Given the description of an element on the screen output the (x, y) to click on. 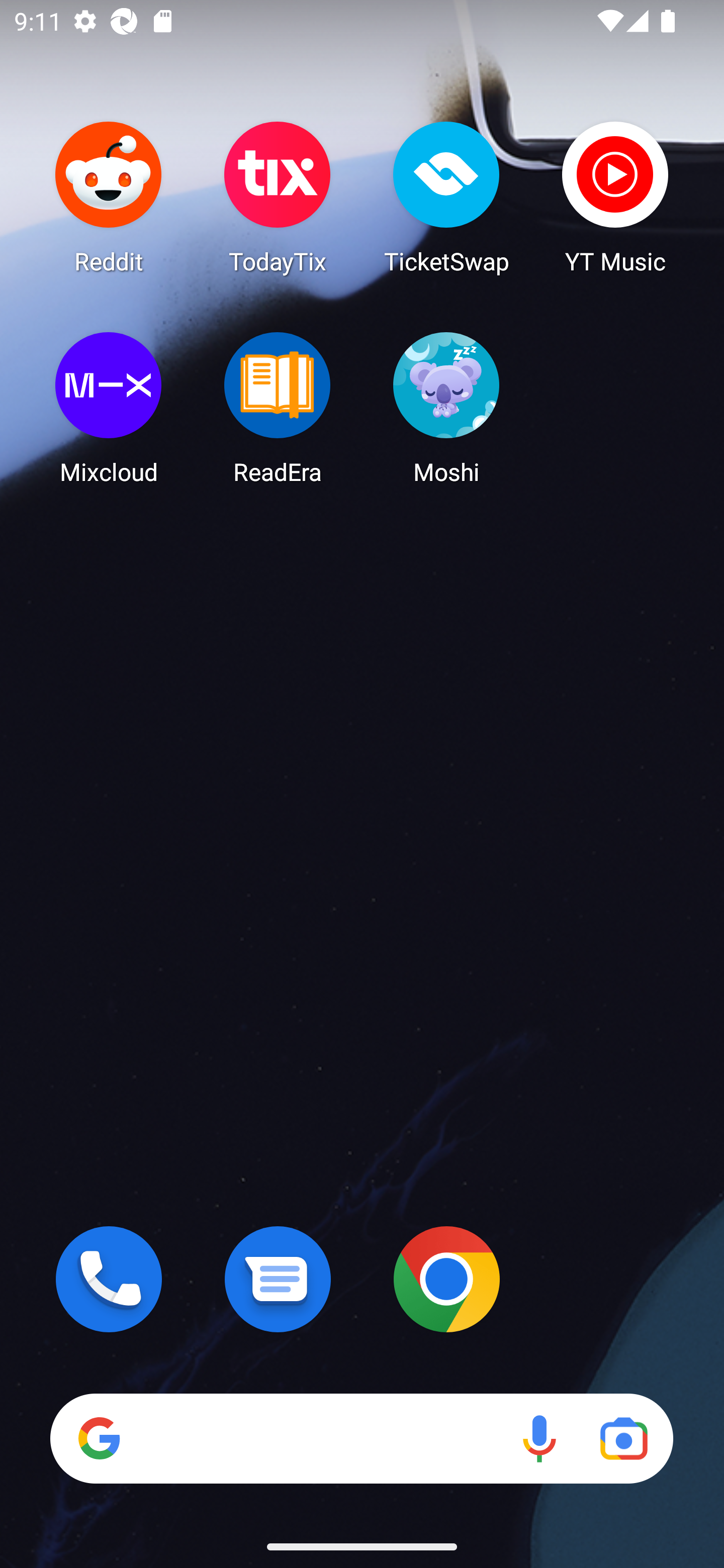
Reddit (108, 196)
TodayTix (277, 196)
TicketSwap (445, 196)
YT Music (615, 196)
Mixcloud (108, 407)
ReadEra (277, 407)
Moshi (445, 407)
Phone (108, 1279)
Messages (277, 1279)
Chrome (446, 1279)
Voice search (539, 1438)
Google Lens (623, 1438)
